Given the description of an element on the screen output the (x, y) to click on. 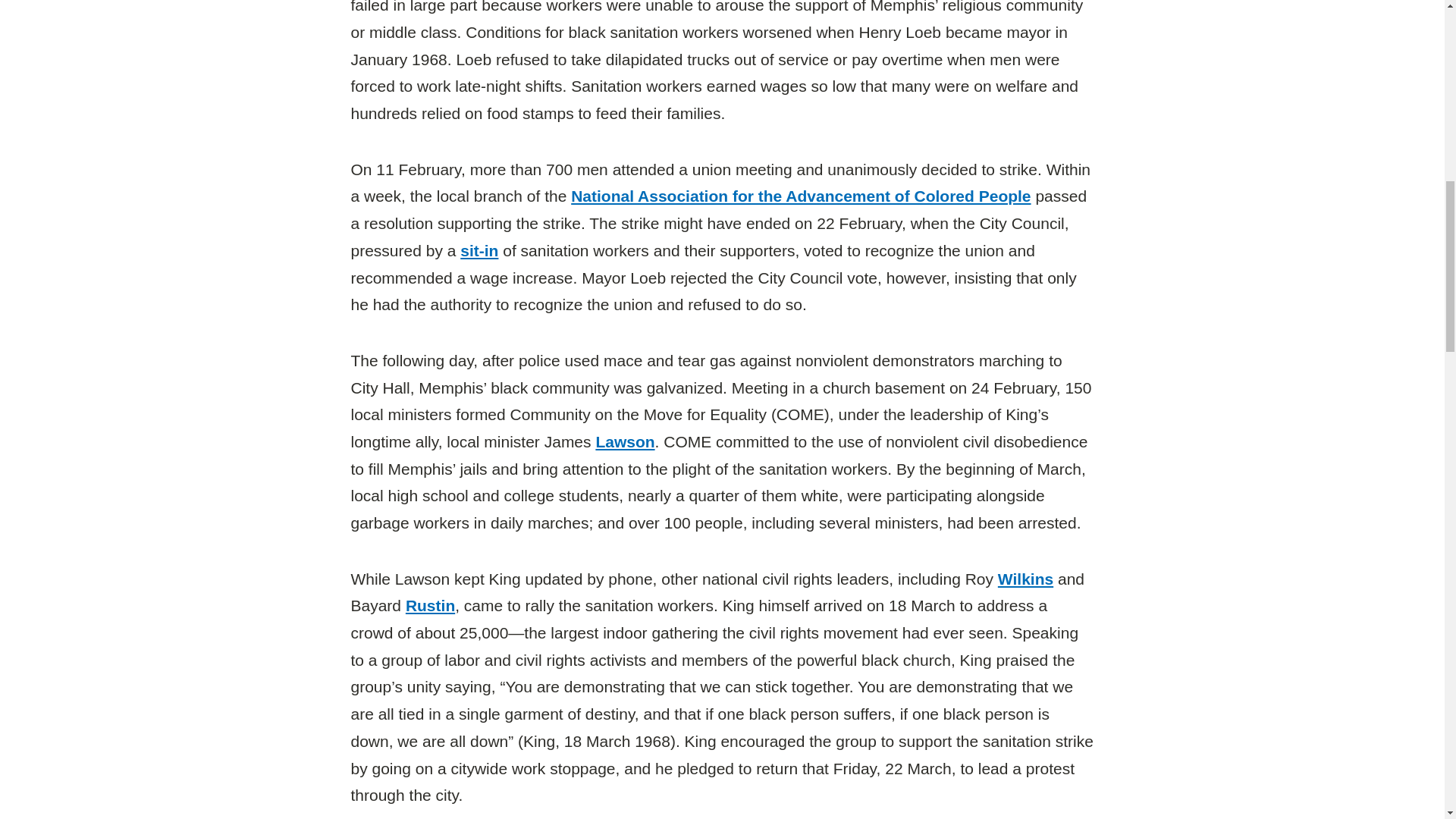
Lawson, James M. (624, 441)
Rustin, Bayard (430, 605)
Sit-ins (478, 250)
Wilkins, Roy Ottaway (1024, 579)
